Given the description of an element on the screen output the (x, y) to click on. 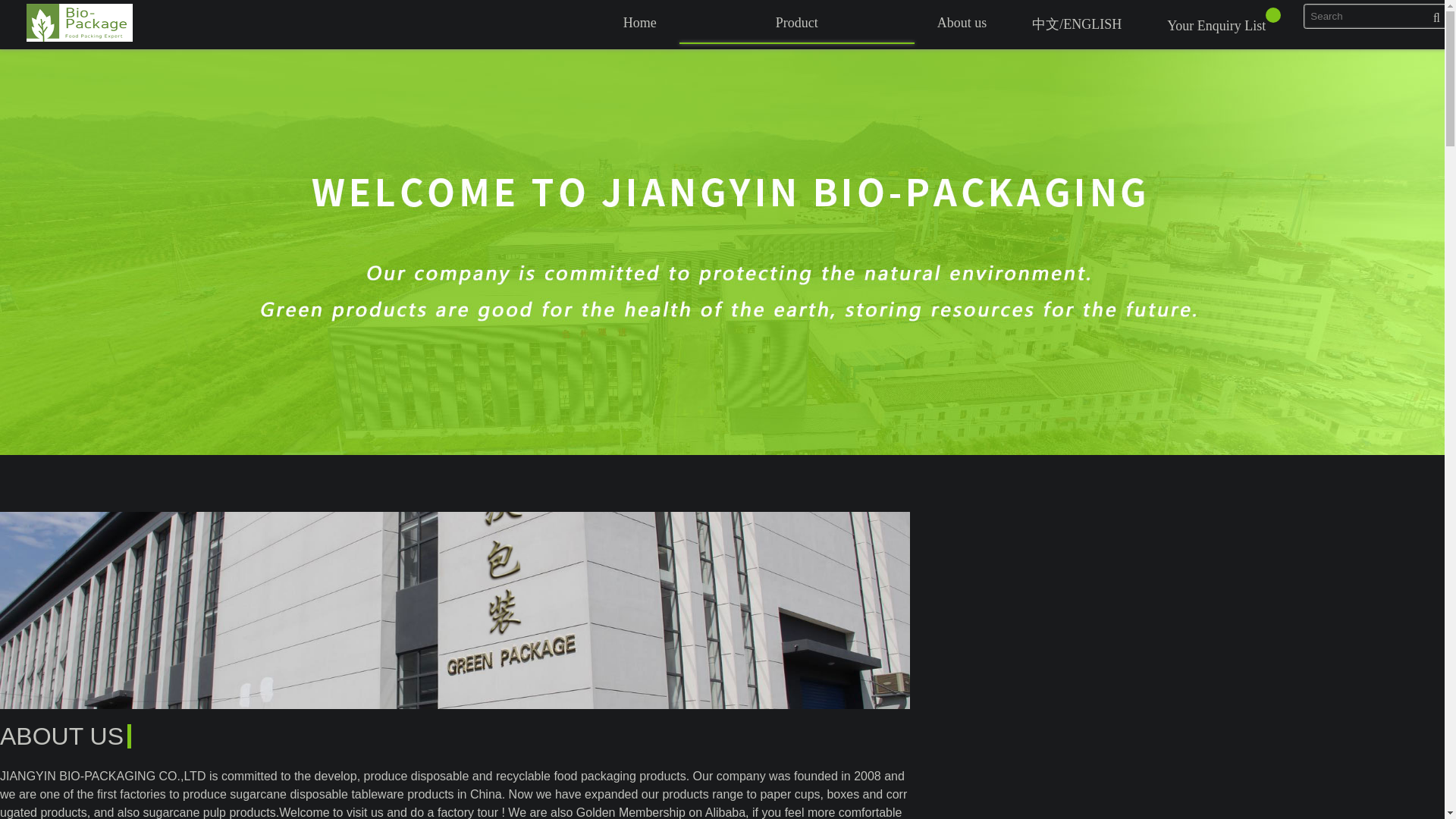
Home (639, 23)
Product (796, 23)
About us (962, 23)
Your Enquiry List (1223, 24)
